Given the description of an element on the screen output the (x, y) to click on. 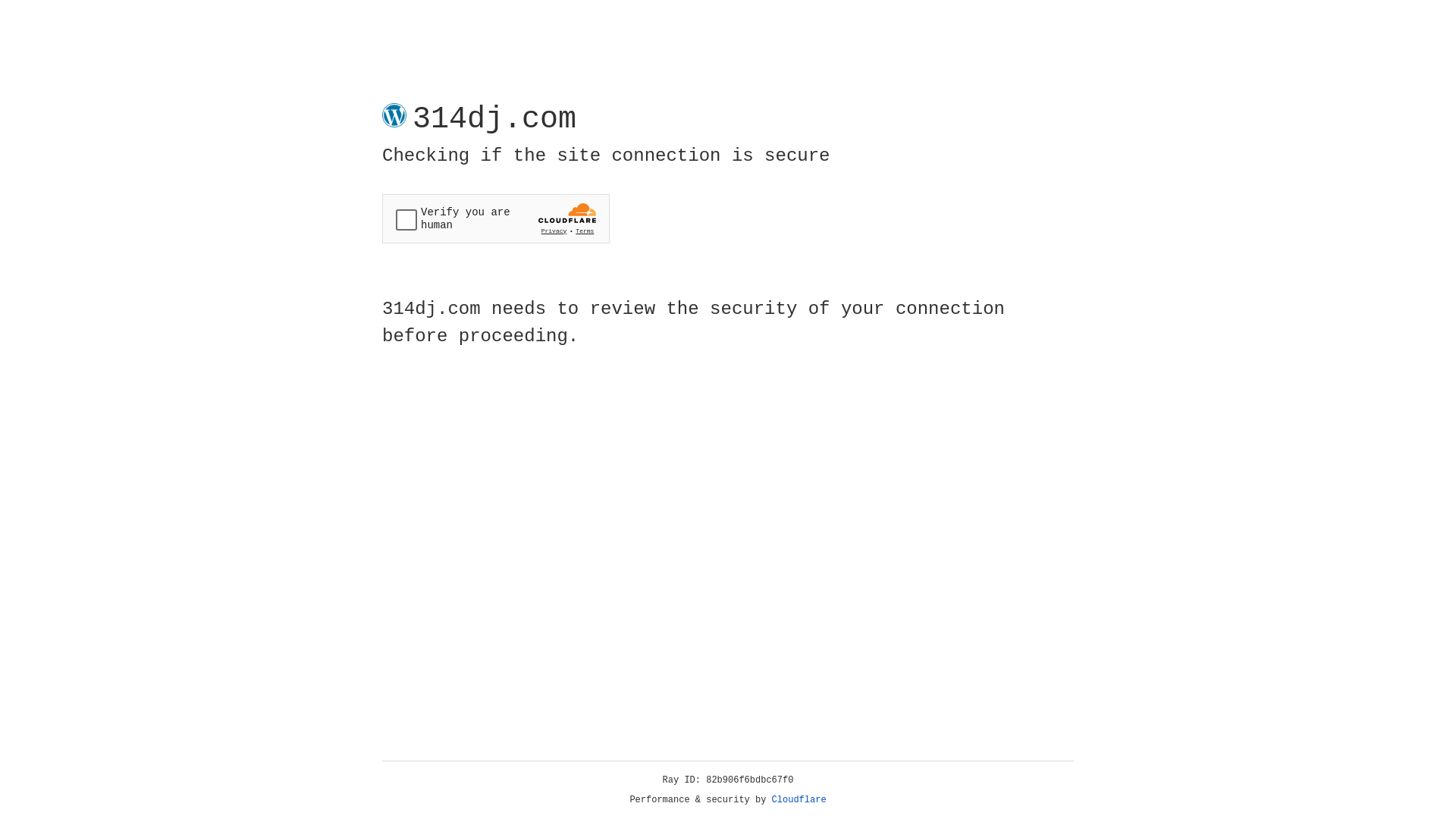
Widget containing a Cloudflare security challenge Element type: hover (495, 218)
Cloudflare Element type: text (798, 799)
